Given the description of an element on the screen output the (x, y) to click on. 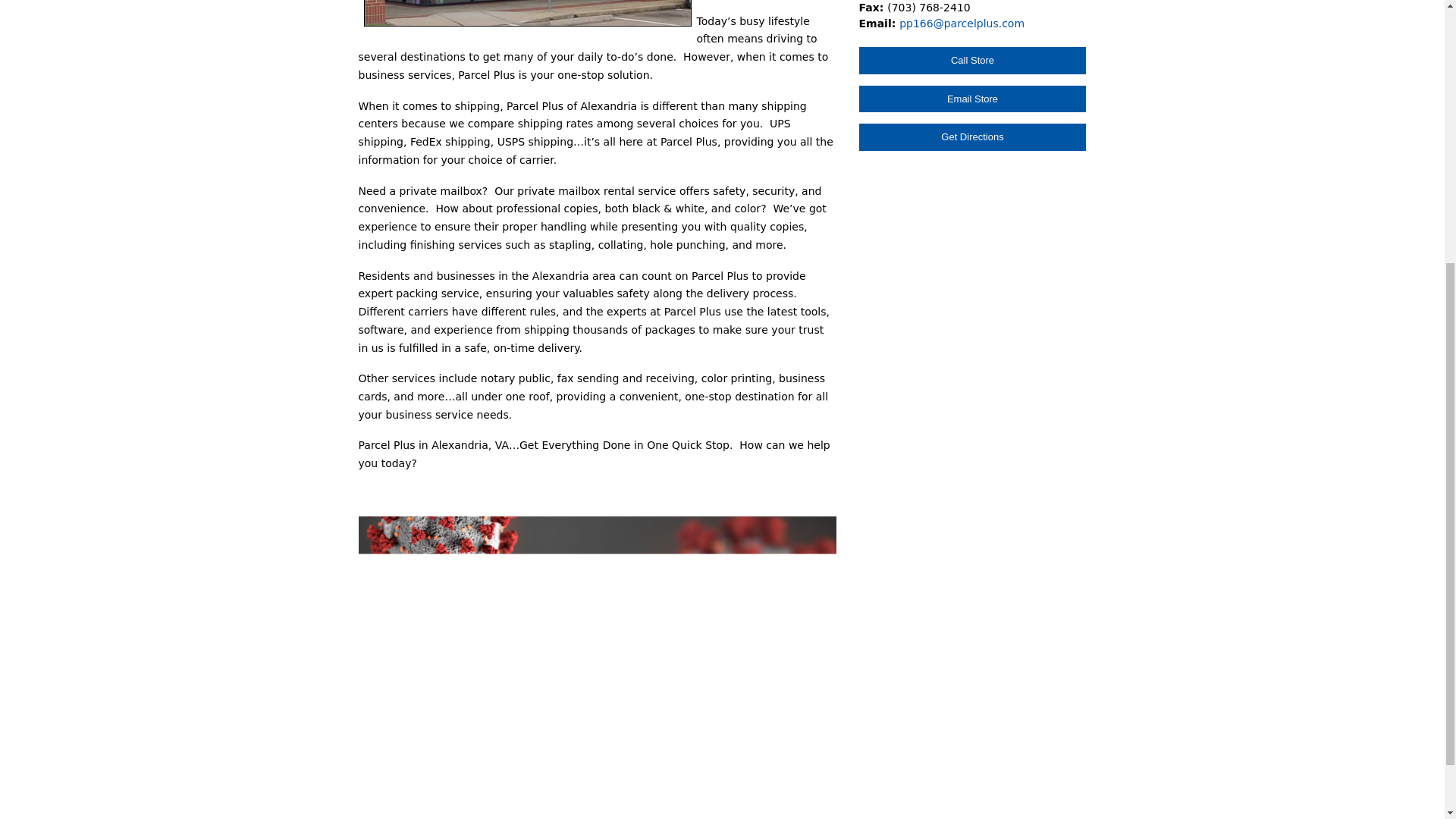
Compare Shipping Rates of UPS, FedEx, and the USPS (527, 13)
Call Store (972, 60)
Email Store (972, 98)
Get Directions (972, 136)
